Given the description of an element on the screen output the (x, y) to click on. 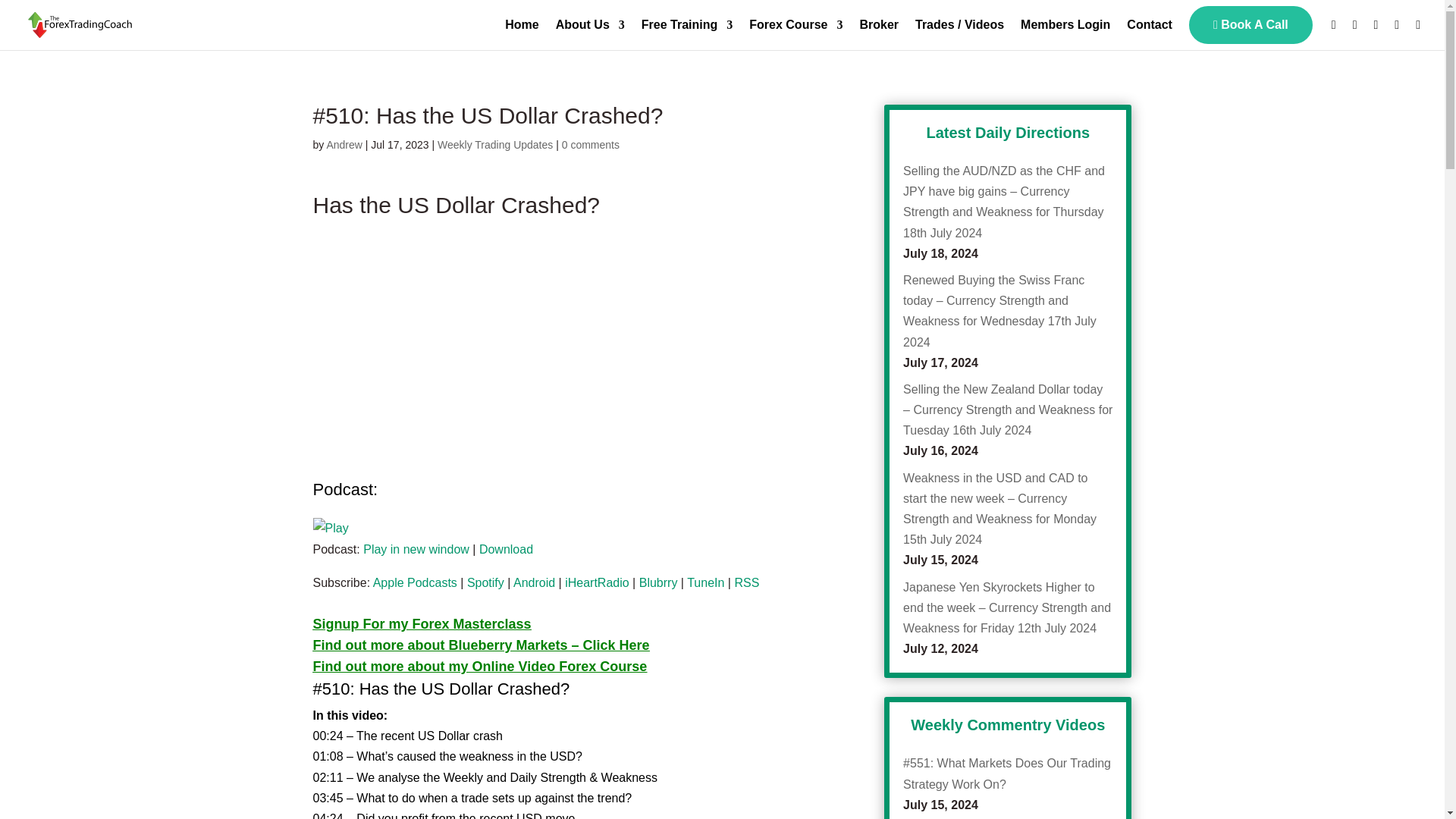
Broker (878, 34)
Play (330, 527)
Forex Course (796, 34)
Subscribe on Spotify (485, 582)
Posts by Andrew (343, 144)
Home (521, 34)
Subscribe on Blubrry (658, 582)
Play in new window (415, 549)
Subscribe via RSS (745, 582)
About Us (590, 34)
Andrew (343, 144)
Subscribe on Android (533, 582)
Subscribe on Apple Podcasts (414, 582)
Weekly Trading Updates (495, 144)
Subscribe on iHeartRadio (596, 582)
